Given the description of an element on the screen output the (x, y) to click on. 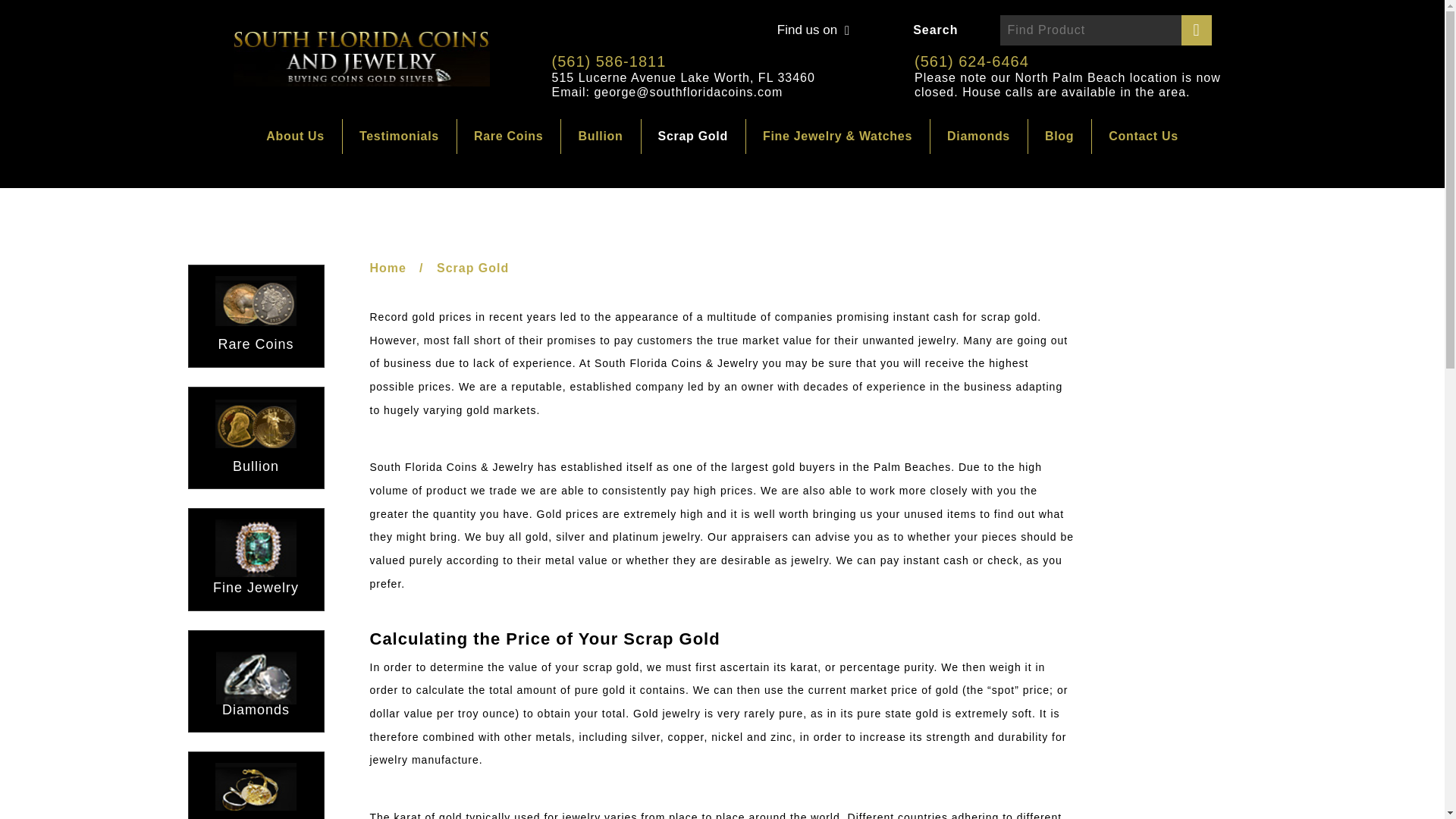
Scrap Gold (693, 136)
Diamonds (978, 136)
jewelry (809, 560)
Bullion (600, 136)
Scrap Gold (472, 267)
Contact Us (1142, 136)
jewelry (809, 560)
Rare Coins (508, 136)
Scrap Gold (693, 136)
Home (387, 267)
